Given the description of an element on the screen output the (x, y) to click on. 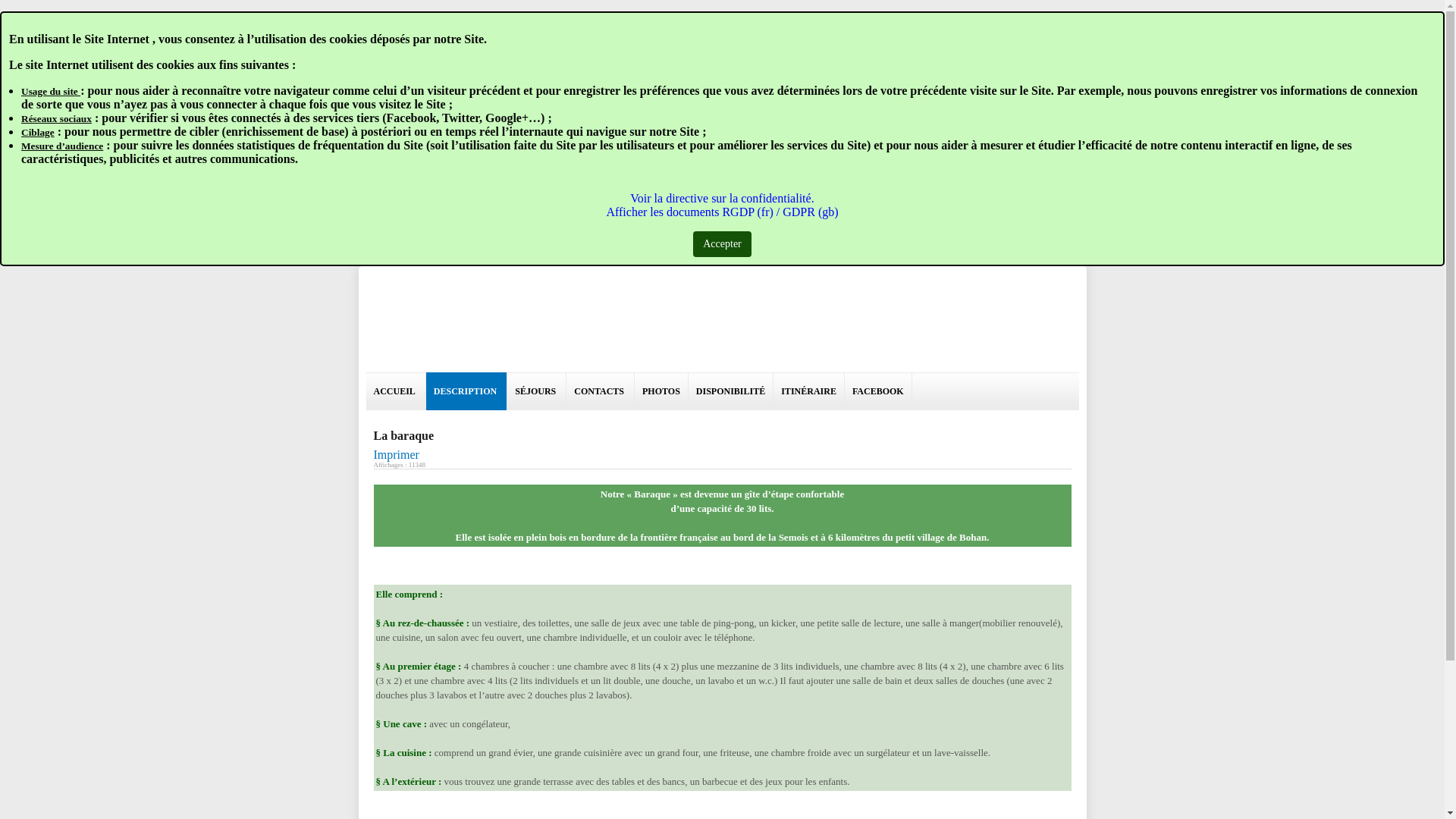
PHOTOS Element type: text (661, 391)
Imprimer Element type: text (395, 454)
DESCRIPTION Element type: text (466, 391)
Accepter Element type: text (722, 244)
Afficher les documents RGDP (fr) / GDPR (gb) Element type: text (721, 211)
ACCUEIL Element type: text (395, 391)
FACEBOOK Element type: text (878, 391)
CONTACTS Element type: text (600, 391)
